Given the description of an element on the screen output the (x, y) to click on. 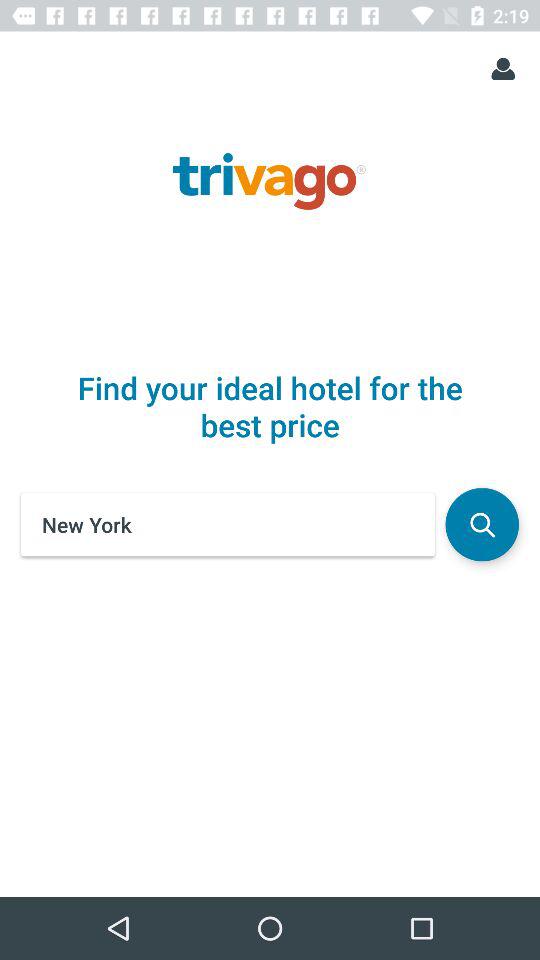
click icon next to the new york icon (482, 524)
